Given the description of an element on the screen output the (x, y) to click on. 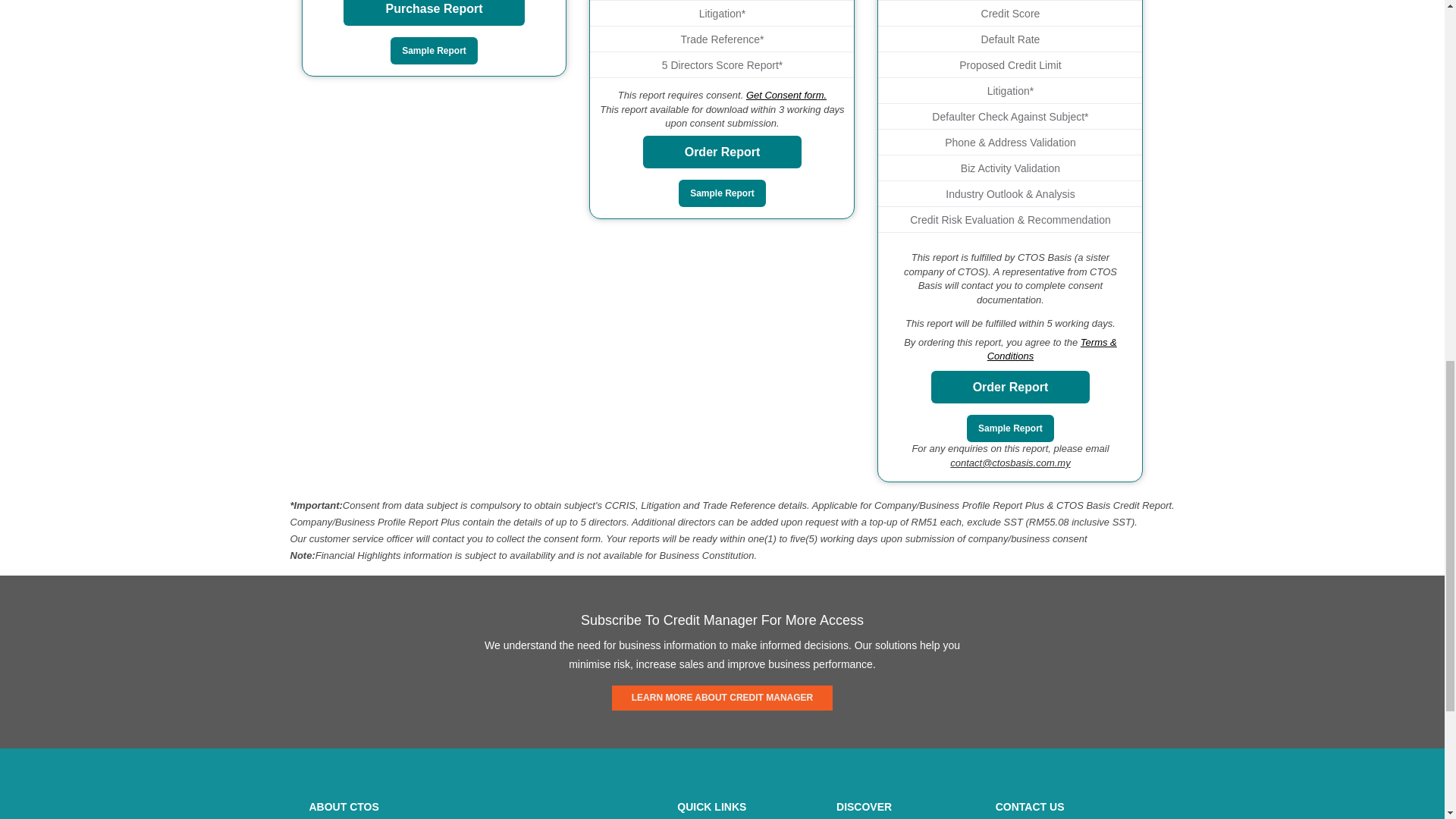
Sample Report (433, 50)
Get Consent form. (786, 94)
LEARN MORE ABOUT CREDIT MANAGER (721, 697)
Sample Report (721, 193)
Order Report (1010, 387)
Purchase Report (433, 12)
Sample Report (1010, 428)
Order Report (722, 151)
